Given the description of an element on the screen output the (x, y) to click on. 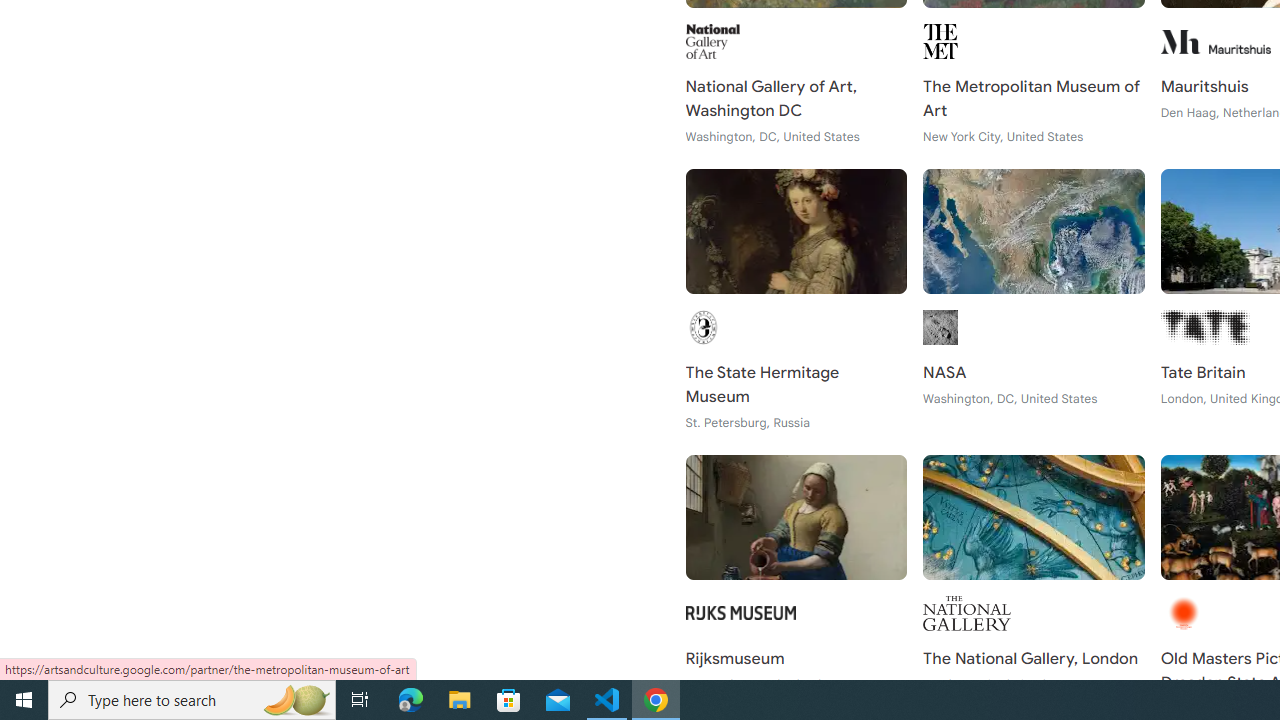
NASA Washington, DC, United States (1033, 300)
Rijksmuseum Amsterdam, Netherlands (795, 585)
The National Gallery, London London, United Kingdom (1033, 585)
The State Hermitage Museum St. Petersburg, Russia (795, 300)
